Given the description of an element on the screen output the (x, y) to click on. 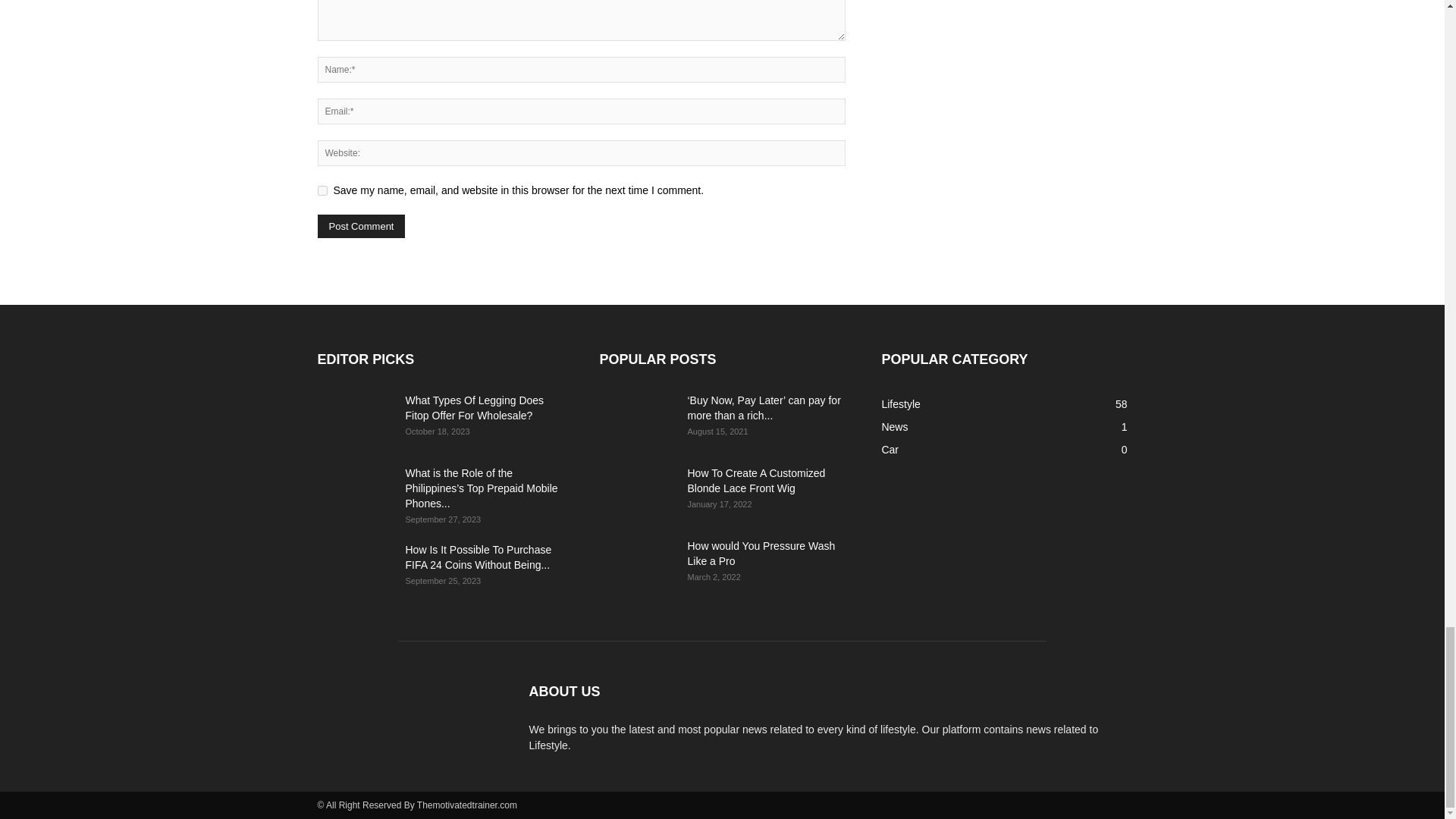
yes (321, 190)
Post Comment (360, 226)
